Given the description of an element on the screen output the (x, y) to click on. 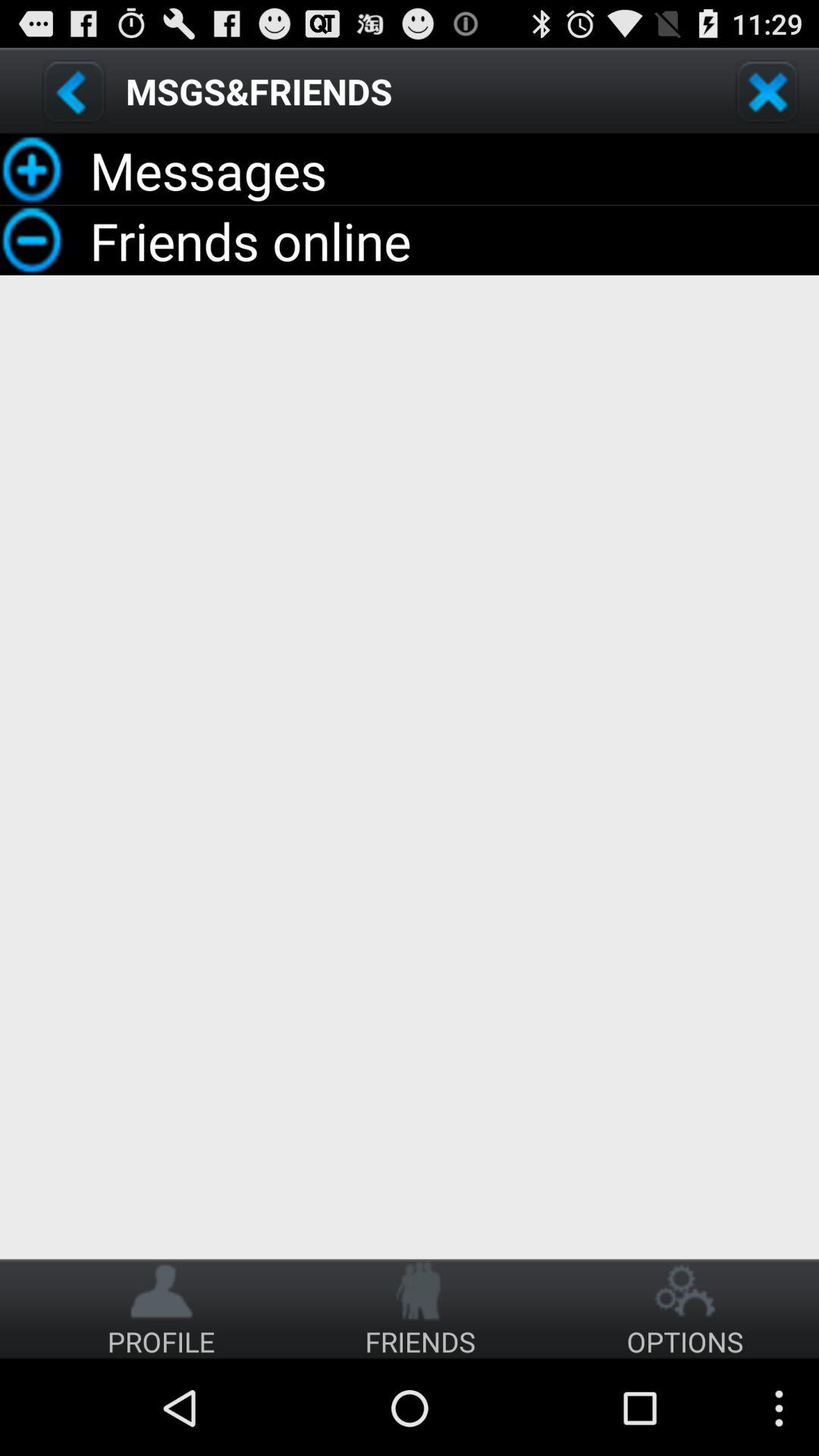
go back (73, 91)
